Given the description of an element on the screen output the (x, y) to click on. 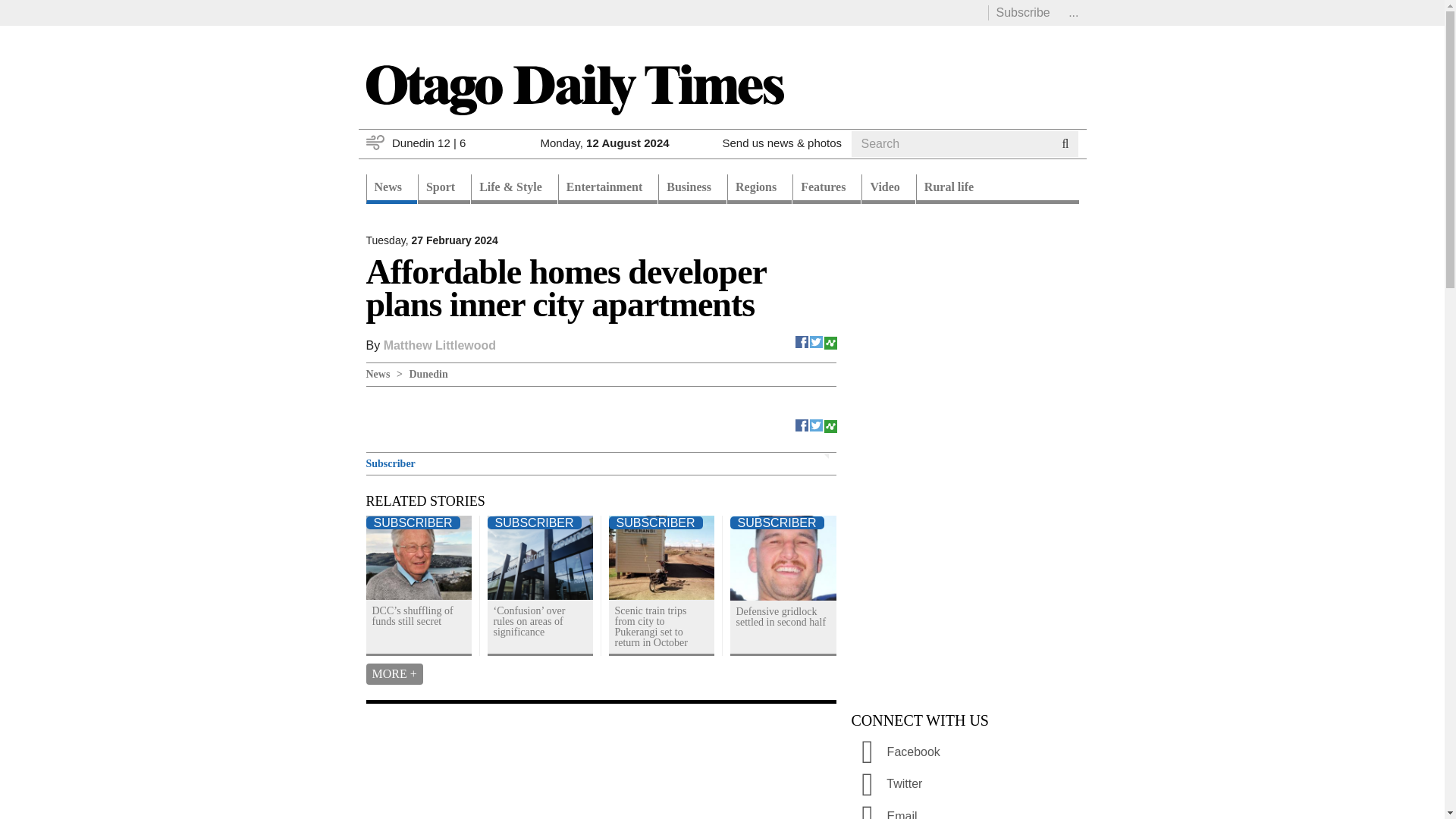
Wind (374, 142)
Home (574, 88)
Sport (443, 188)
Enter the terms you wish to search for. (951, 144)
Twitter (816, 423)
News (390, 188)
Search (879, 162)
Facebook (801, 340)
ShareThis (829, 423)
Facebook (801, 423)
